Given the description of an element on the screen output the (x, y) to click on. 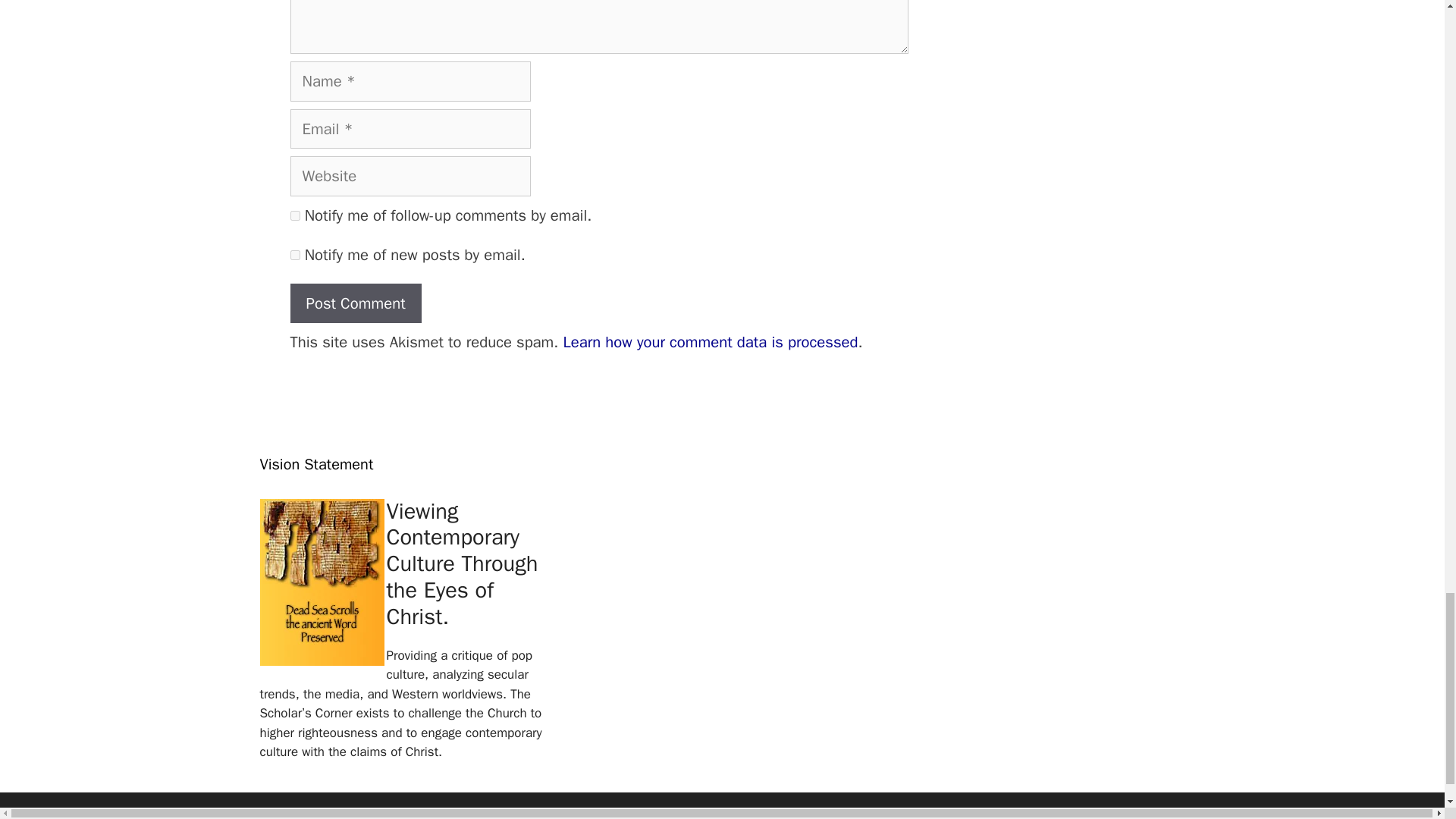
subscribe (294, 255)
subscribe (294, 215)
Post Comment (354, 303)
